Given the description of an element on the screen output the (x, y) to click on. 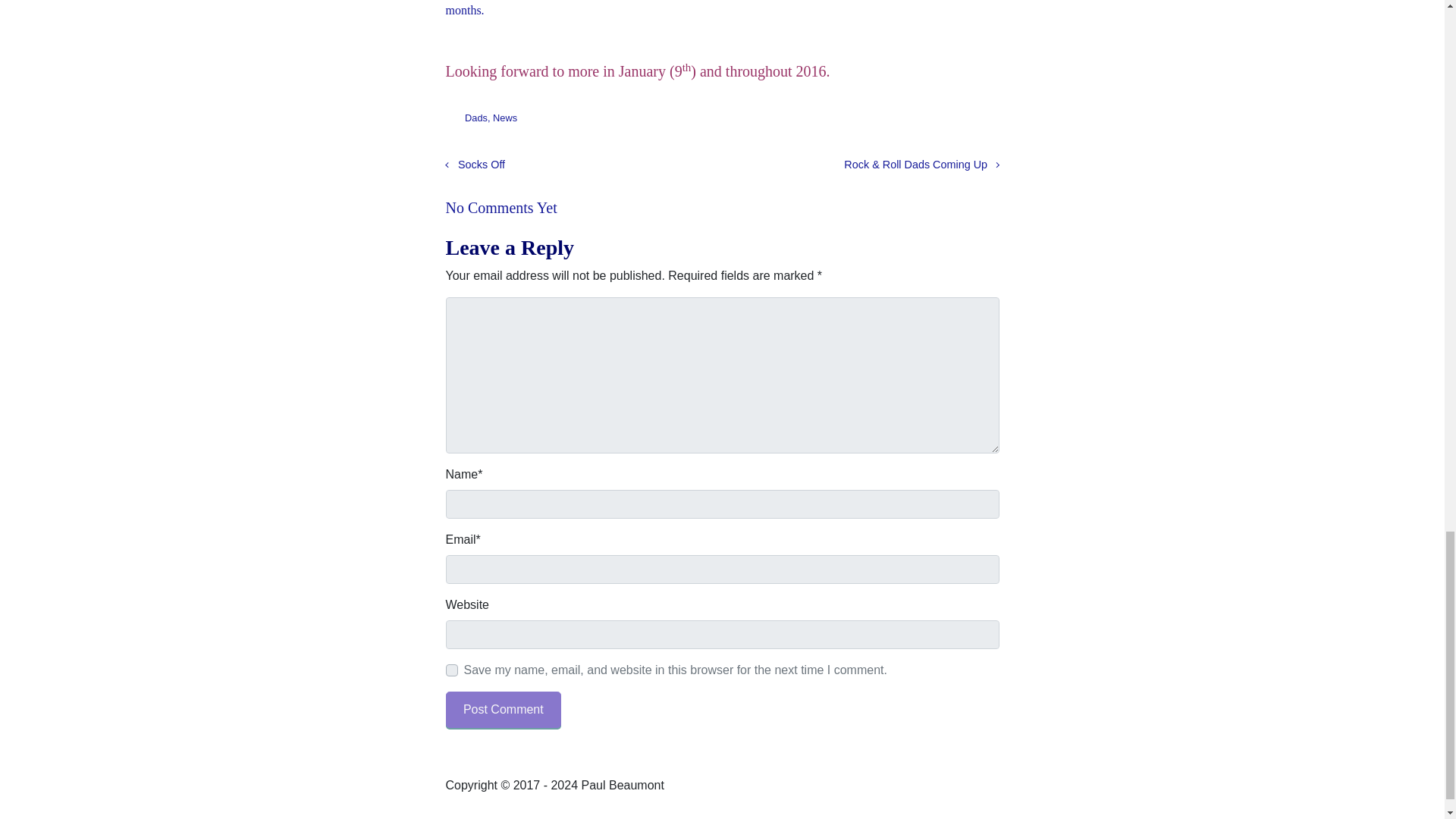
News (504, 117)
Dads (475, 117)
Post Comment (503, 709)
Socks Off (475, 164)
Post Comment (503, 709)
